Given the description of an element on the screen output the (x, y) to click on. 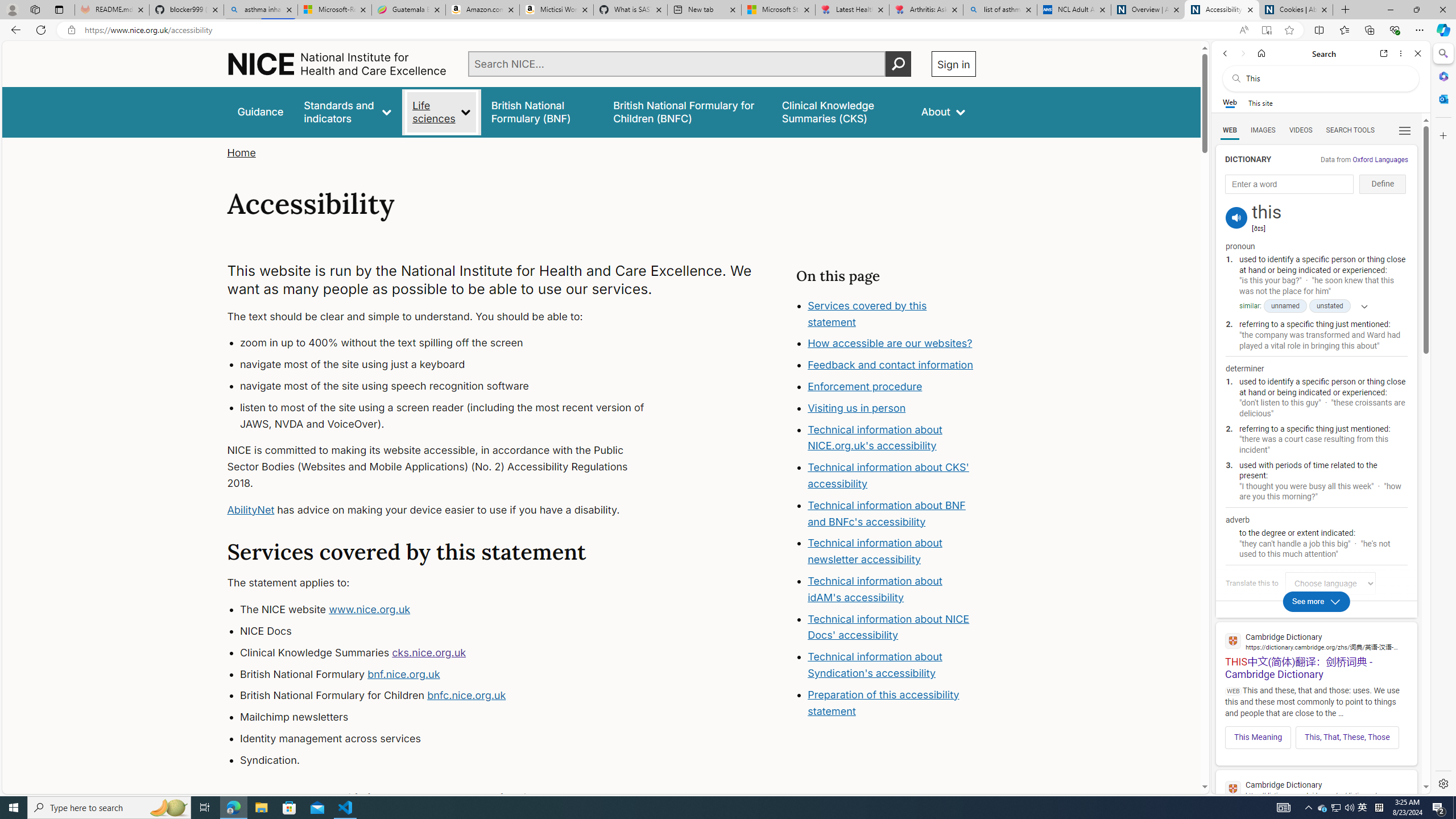
Mailchimp newsletters (452, 717)
navigate most of the site using just a keyboard (452, 364)
How accessible are our websites? (890, 343)
